Given the description of an element on the screen output the (x, y) to click on. 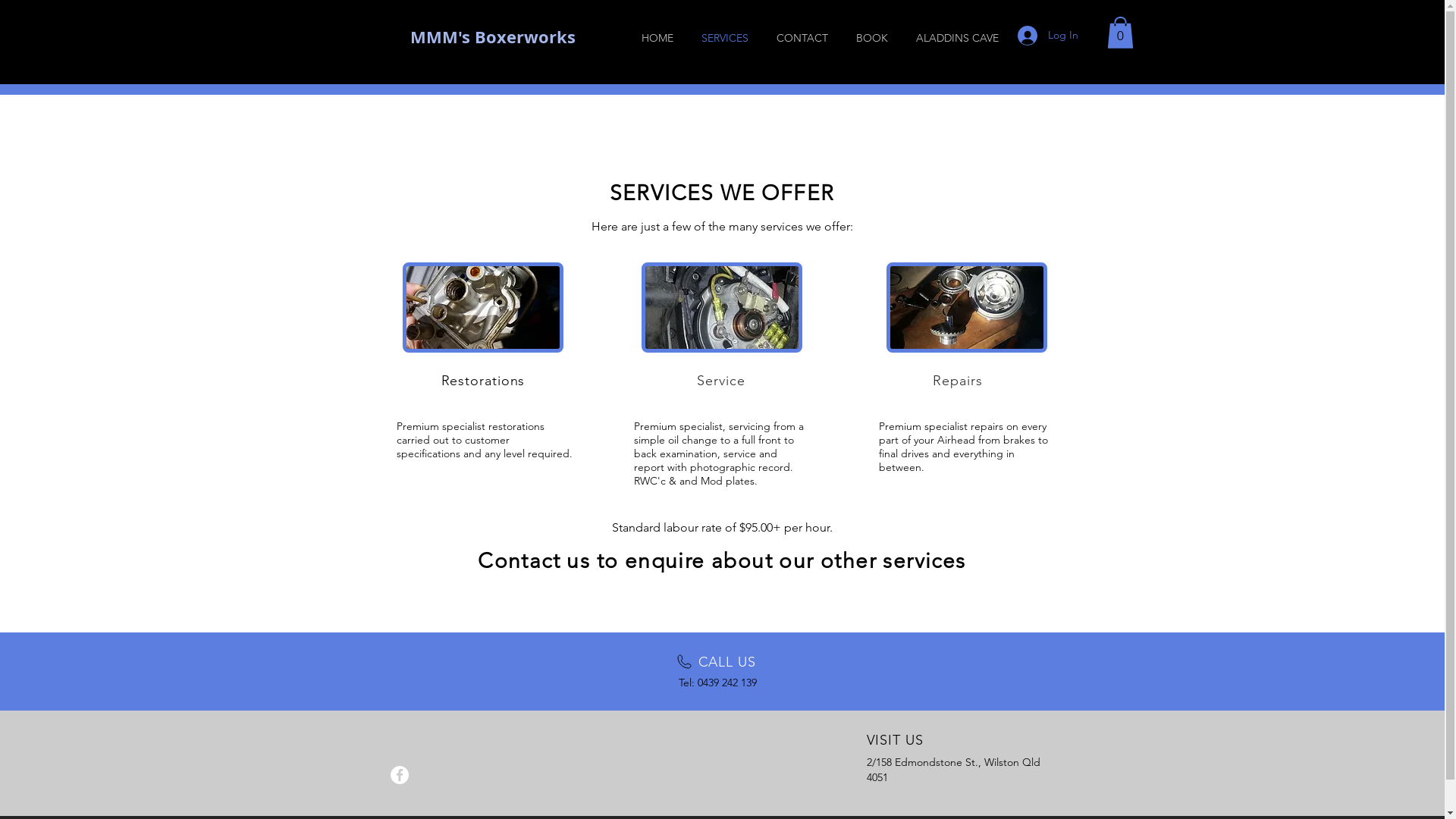
HOME Element type: text (657, 37)
BOOK Element type: text (871, 37)
CONTACT Element type: text (802, 37)
ALADDINS CAVE Element type: text (957, 37)
SERVICES Element type: text (724, 37)
Log In Element type: text (1047, 35)
0 Element type: text (1120, 32)
